Given the description of an element on the screen output the (x, y) to click on. 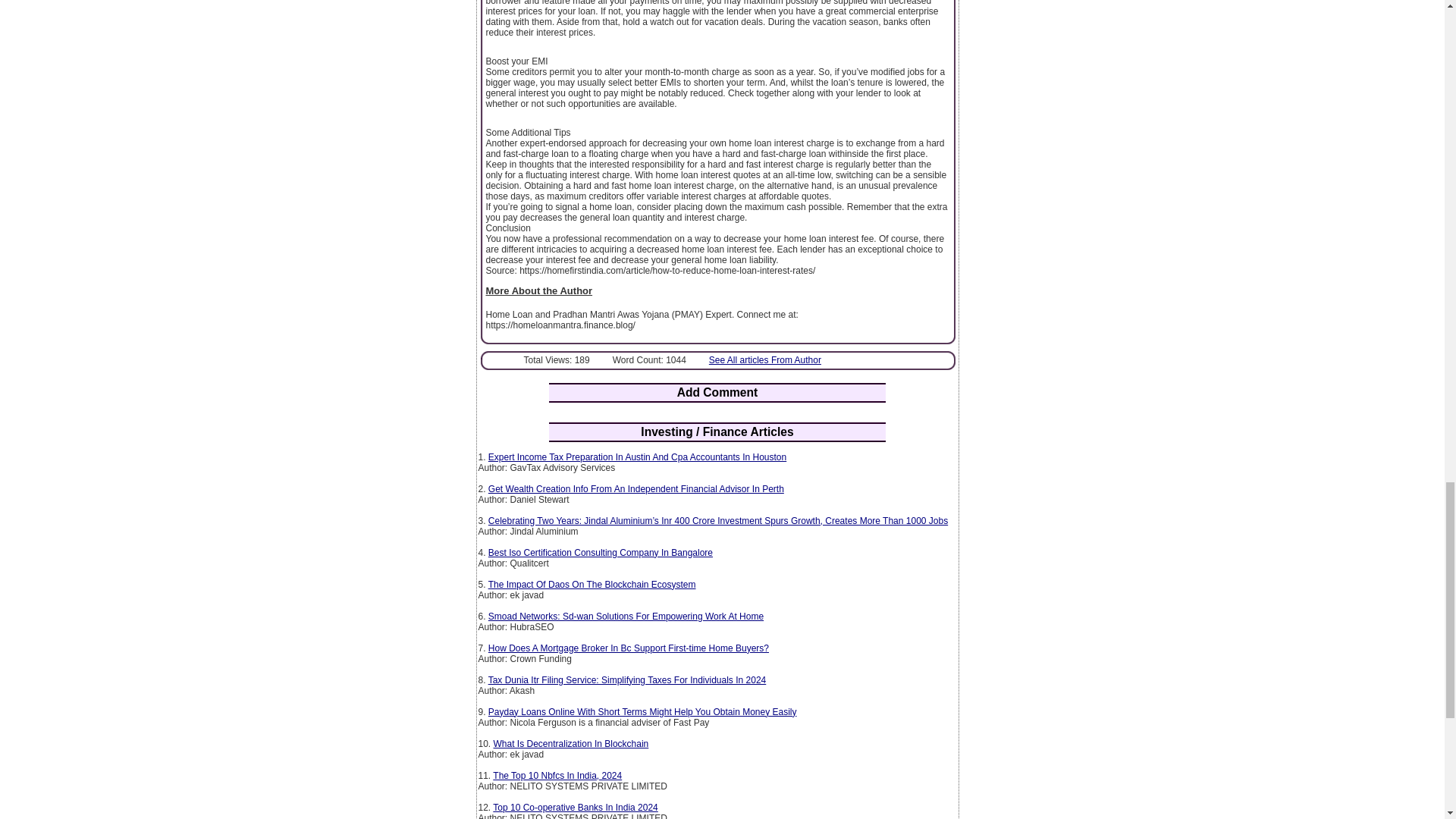
The Impact Of Daos On The Blockchain Ecosystem (591, 584)
What Is Decentralization In Blockchain (571, 743)
Best Iso Certification Consulting Company In Bangalore (600, 552)
